Given the description of an element on the screen output the (x, y) to click on. 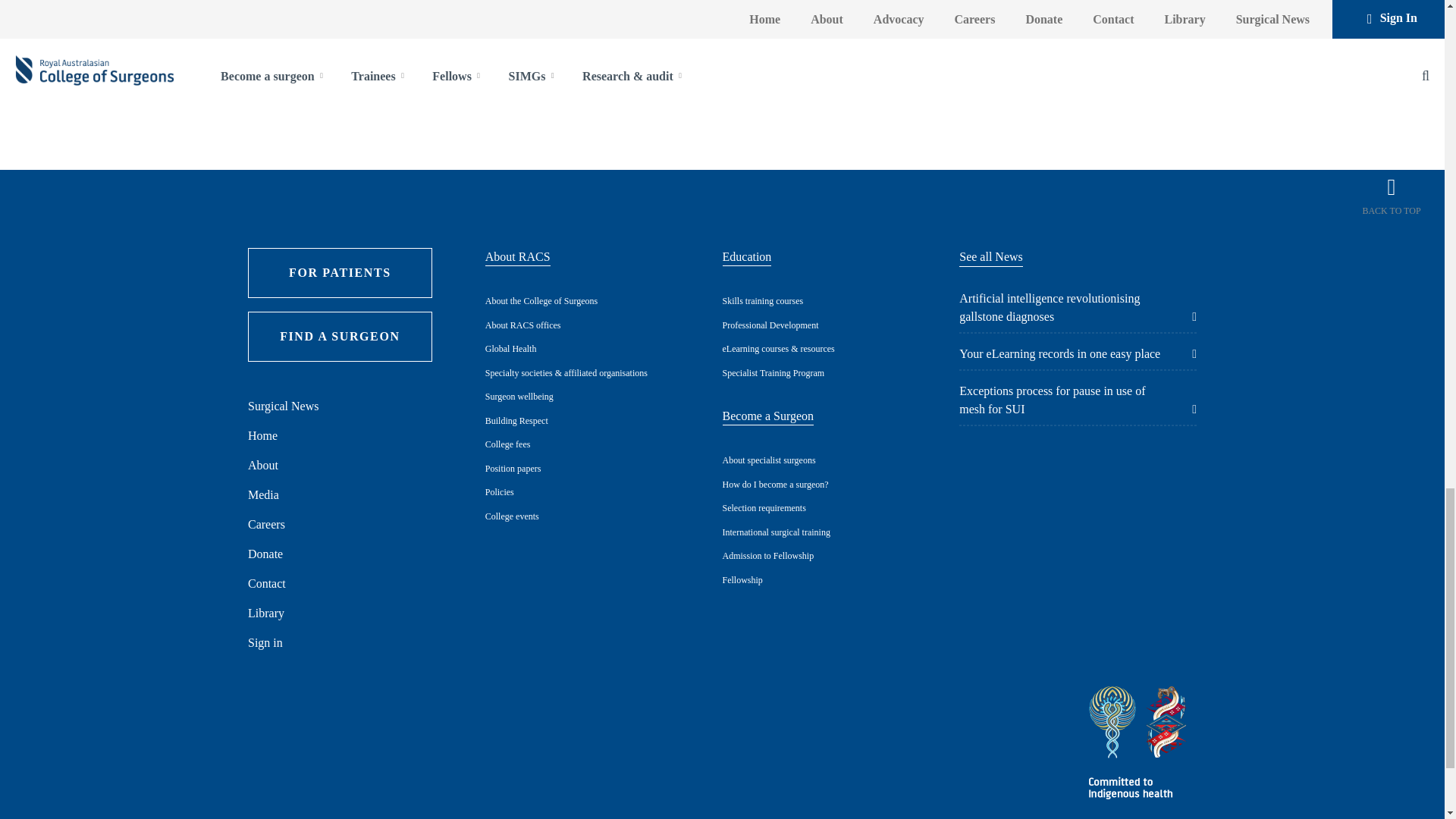
Indigenous footer logo (1139, 745)
